Given the description of an element on the screen output the (x, y) to click on. 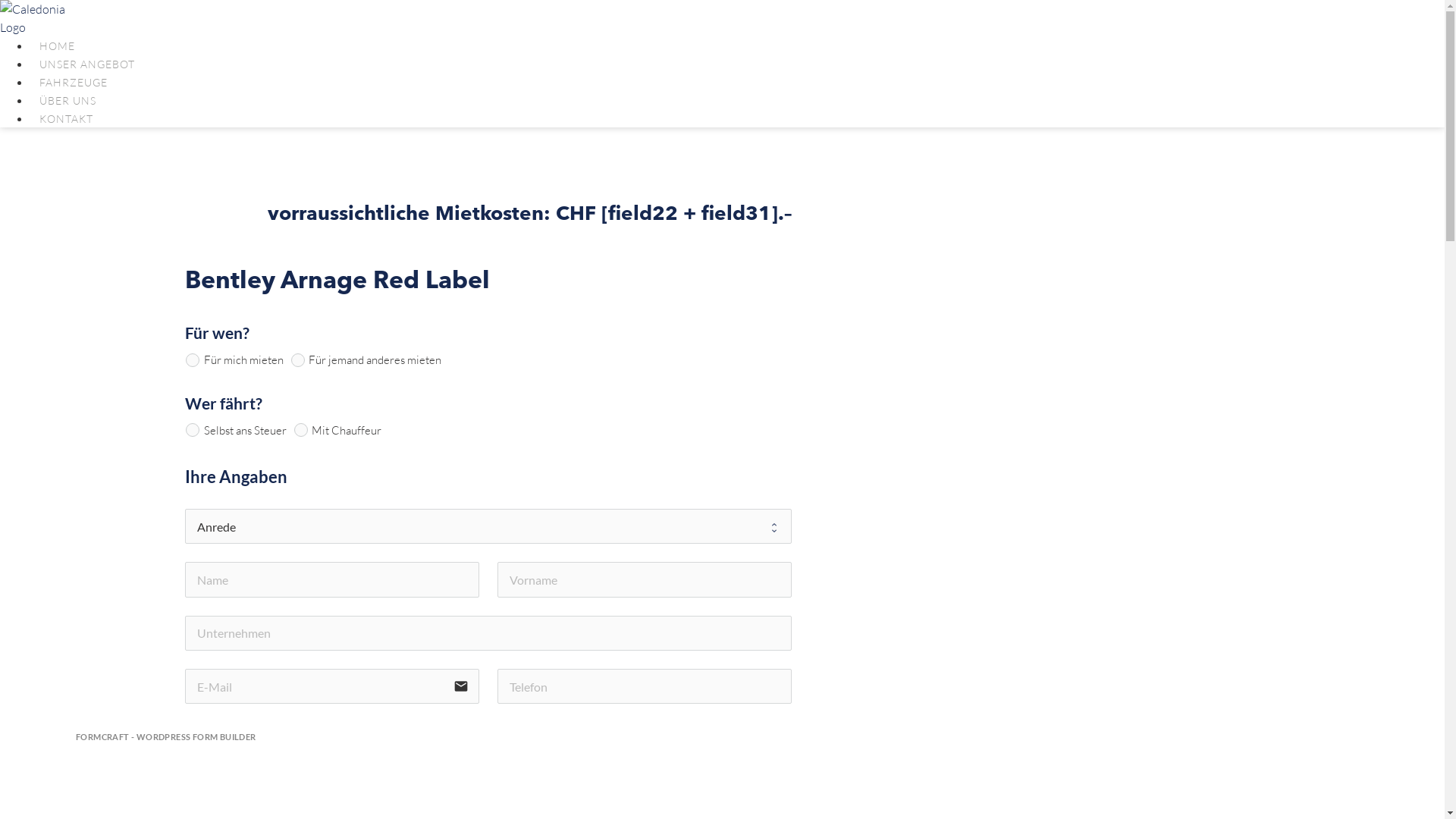
KONTAKT Element type: text (66, 118)
FAHRZEUGE Element type: text (73, 81)
UNSER ANGEBOT Element type: text (87, 63)
FORMCRAFT - WORDPRESS FORM BUILDER Element type: text (165, 737)
HOME Element type: text (57, 45)
